Given the description of an element on the screen output the (x, y) to click on. 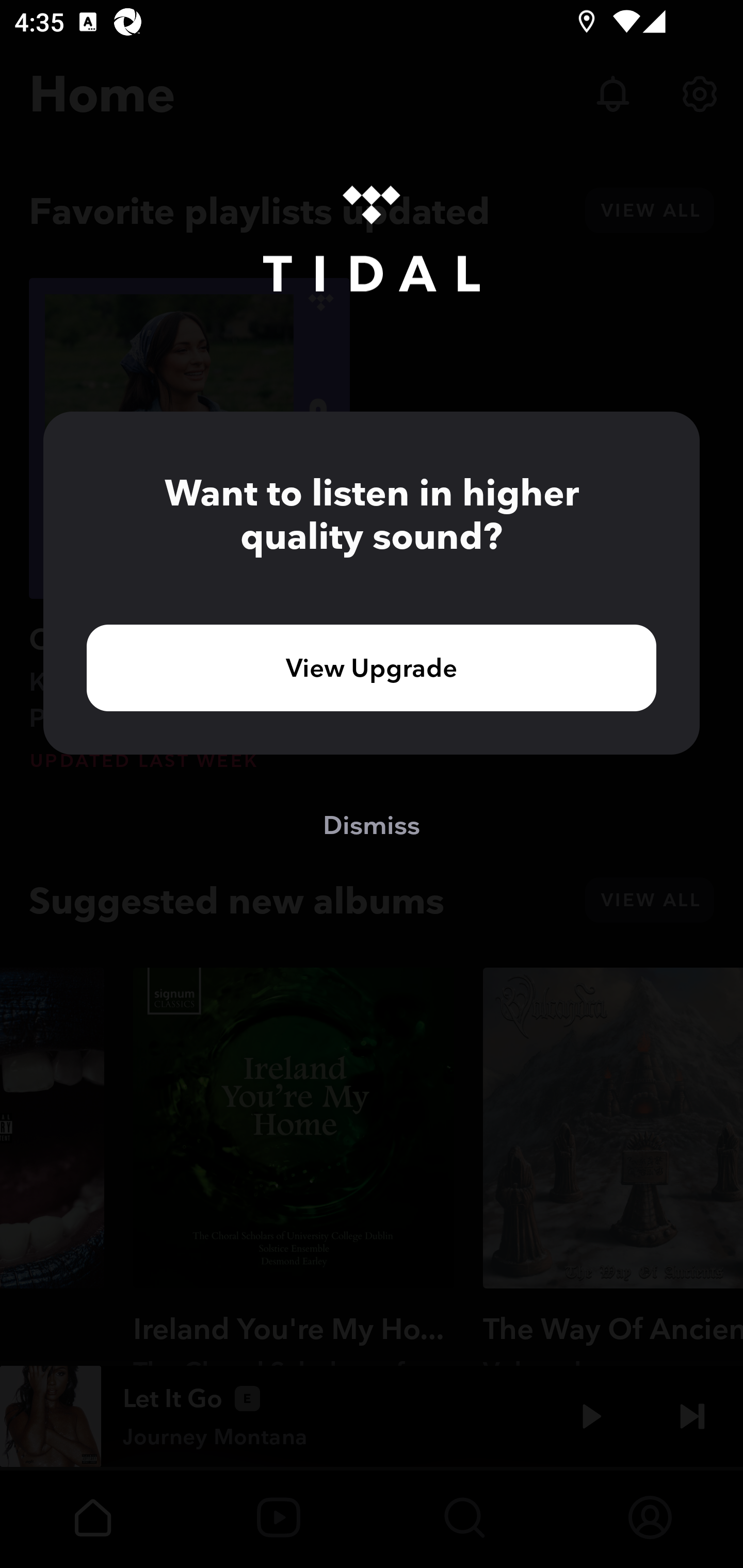
View Upgrade (371, 667)
Dismiss (371, 824)
